Given the description of an element on the screen output the (x, y) to click on. 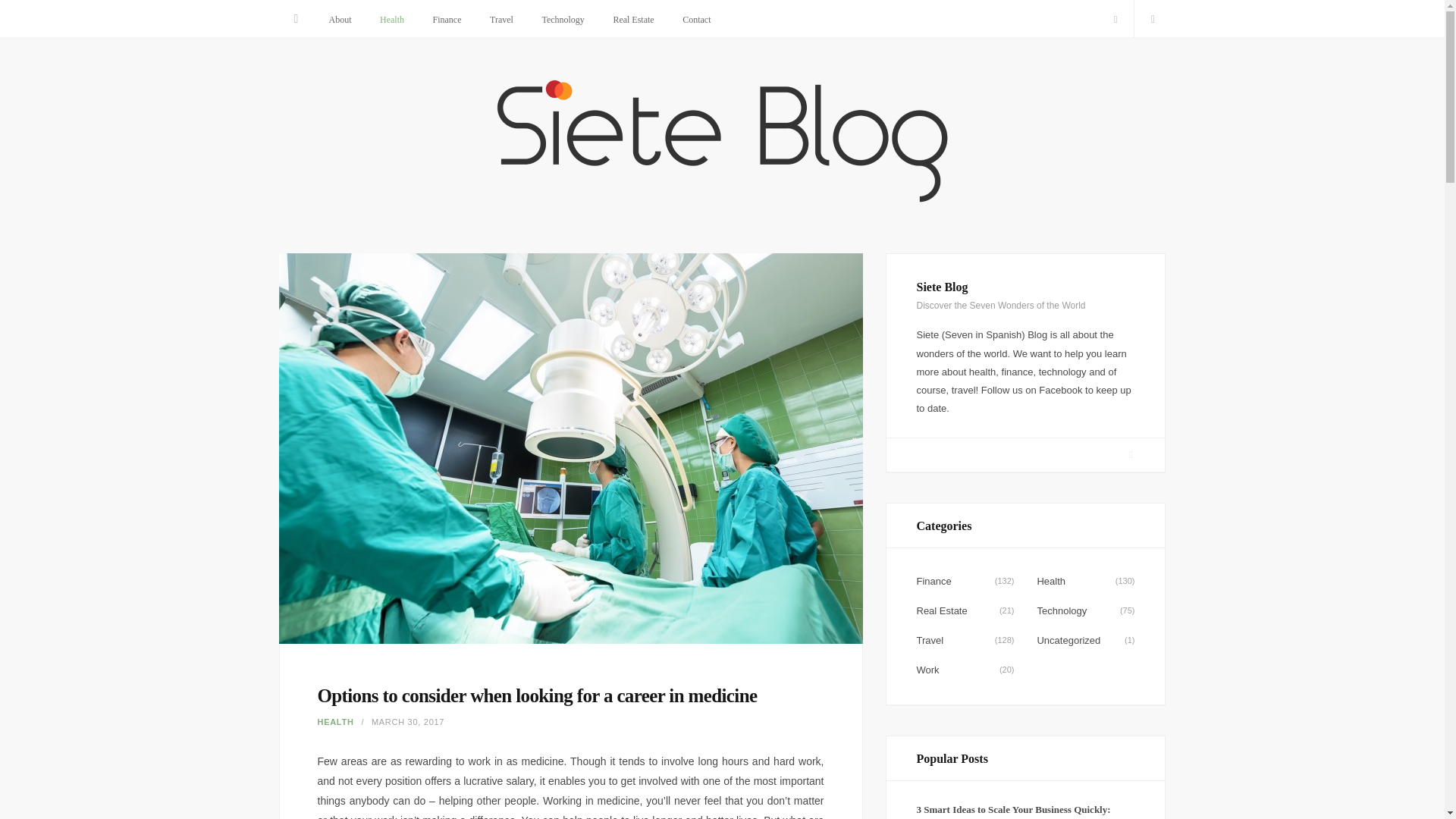
Technology (562, 19)
Menu (296, 18)
Health (391, 19)
Real Estate (632, 19)
Travel (501, 19)
About (339, 19)
Siete Blog (722, 143)
Finance (447, 19)
Facebook (1131, 454)
